Given the description of an element on the screen output the (x, y) to click on. 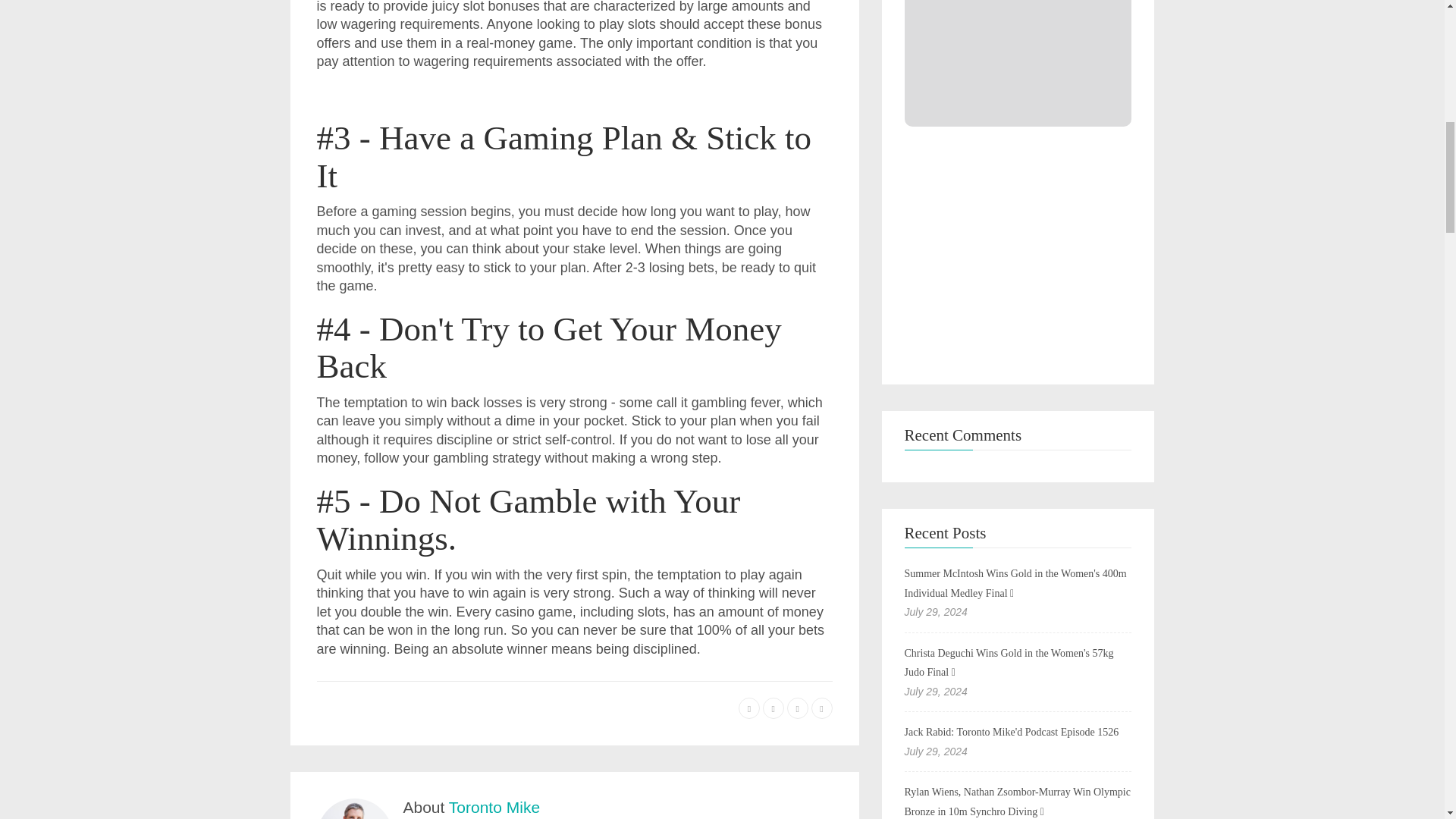
Toronto Mike (494, 806)
Jack Rabid: Toronto Mike'd Podcast Episode 1526 (1011, 731)
